Given the description of an element on the screen output the (x, y) to click on. 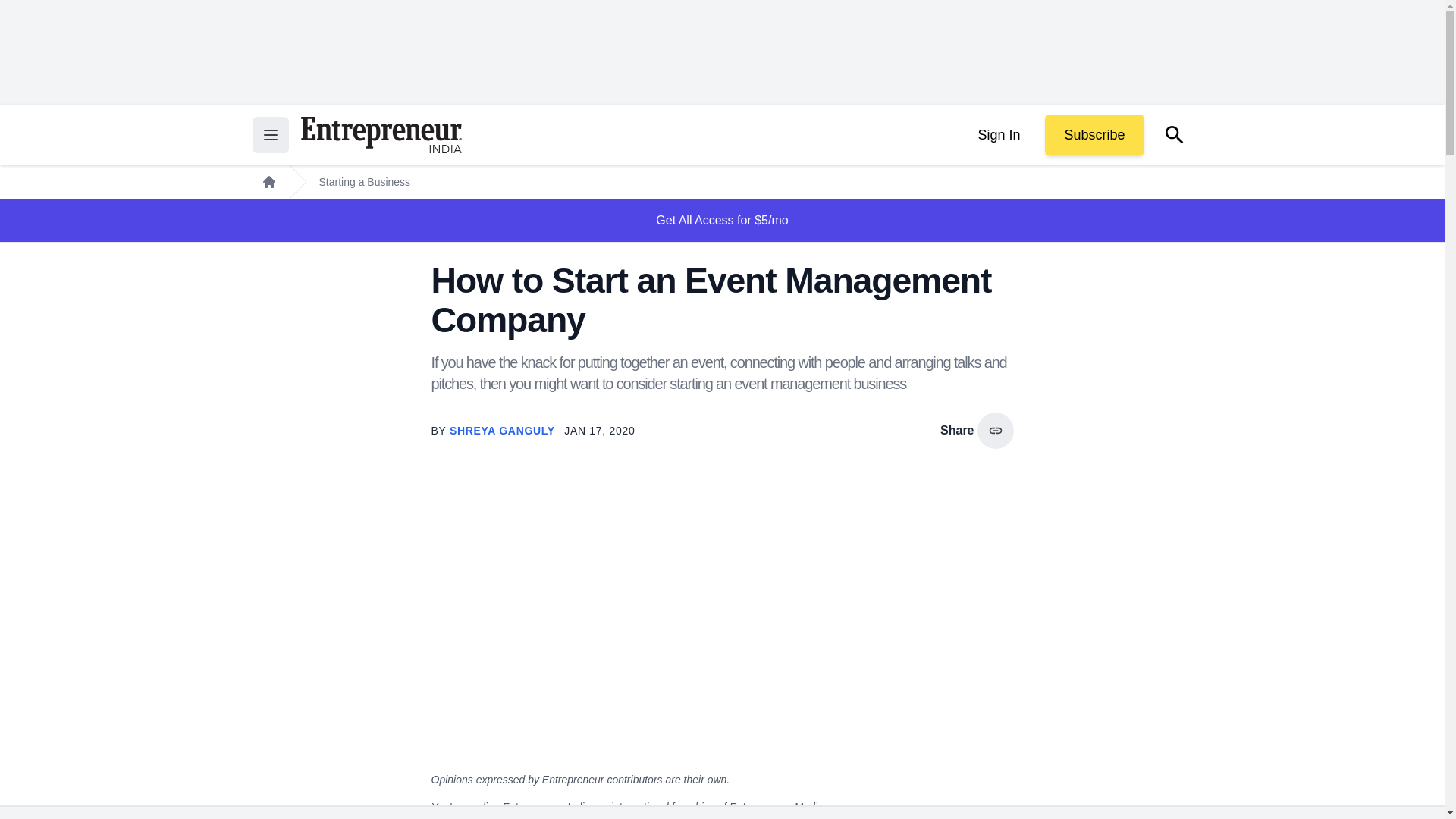
Return to the home page (380, 135)
Subscribe (1093, 134)
copy (994, 430)
Sign In (998, 134)
